Given the description of an element on the screen output the (x, y) to click on. 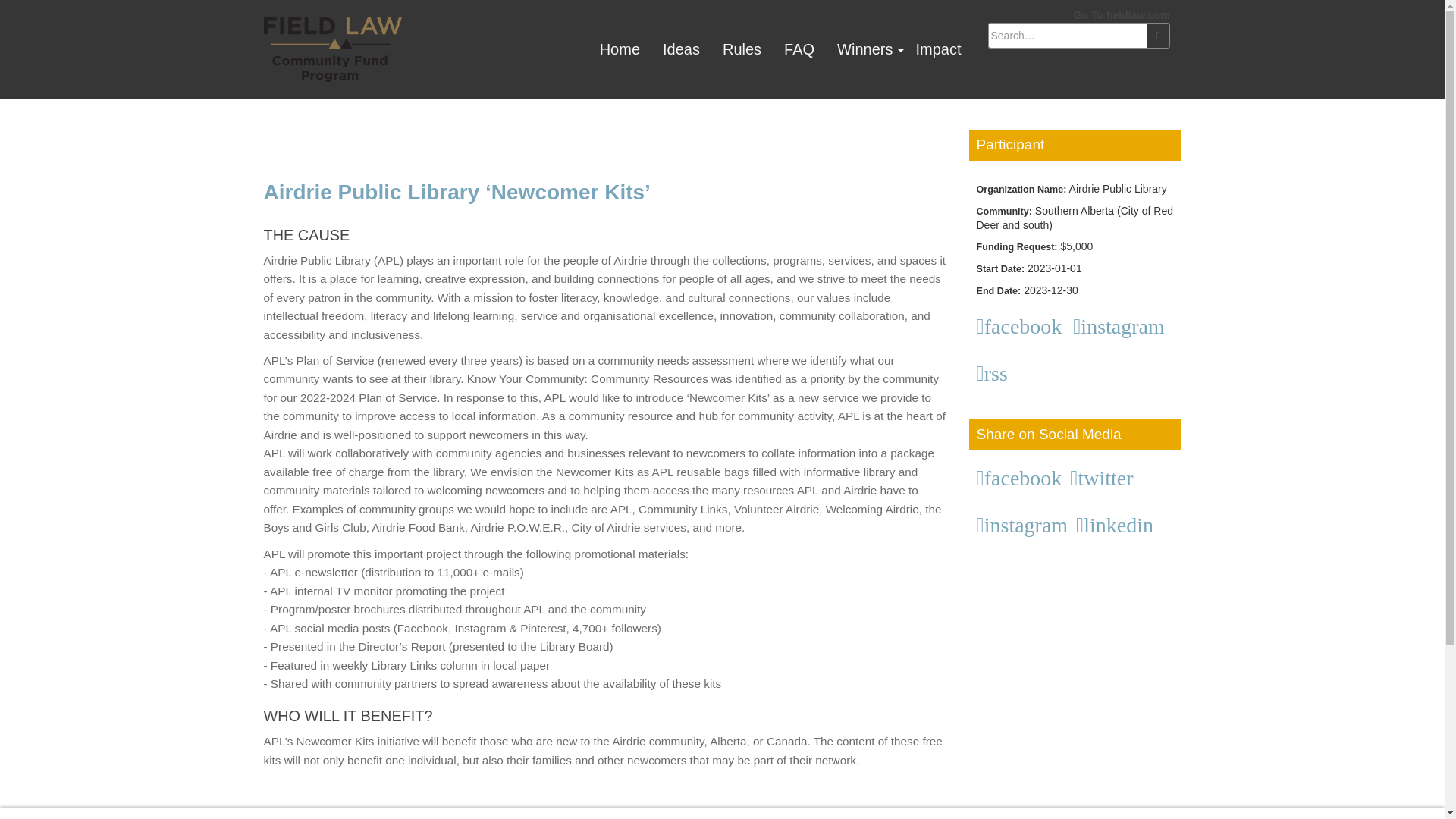
instagram (1121, 326)
facebook (1021, 326)
rss (994, 373)
Go To fieldlaw.com (1122, 15)
instagram (1025, 525)
linkedin (1116, 525)
facebook (1021, 477)
twitter (1104, 477)
